Given the description of an element on the screen output the (x, y) to click on. 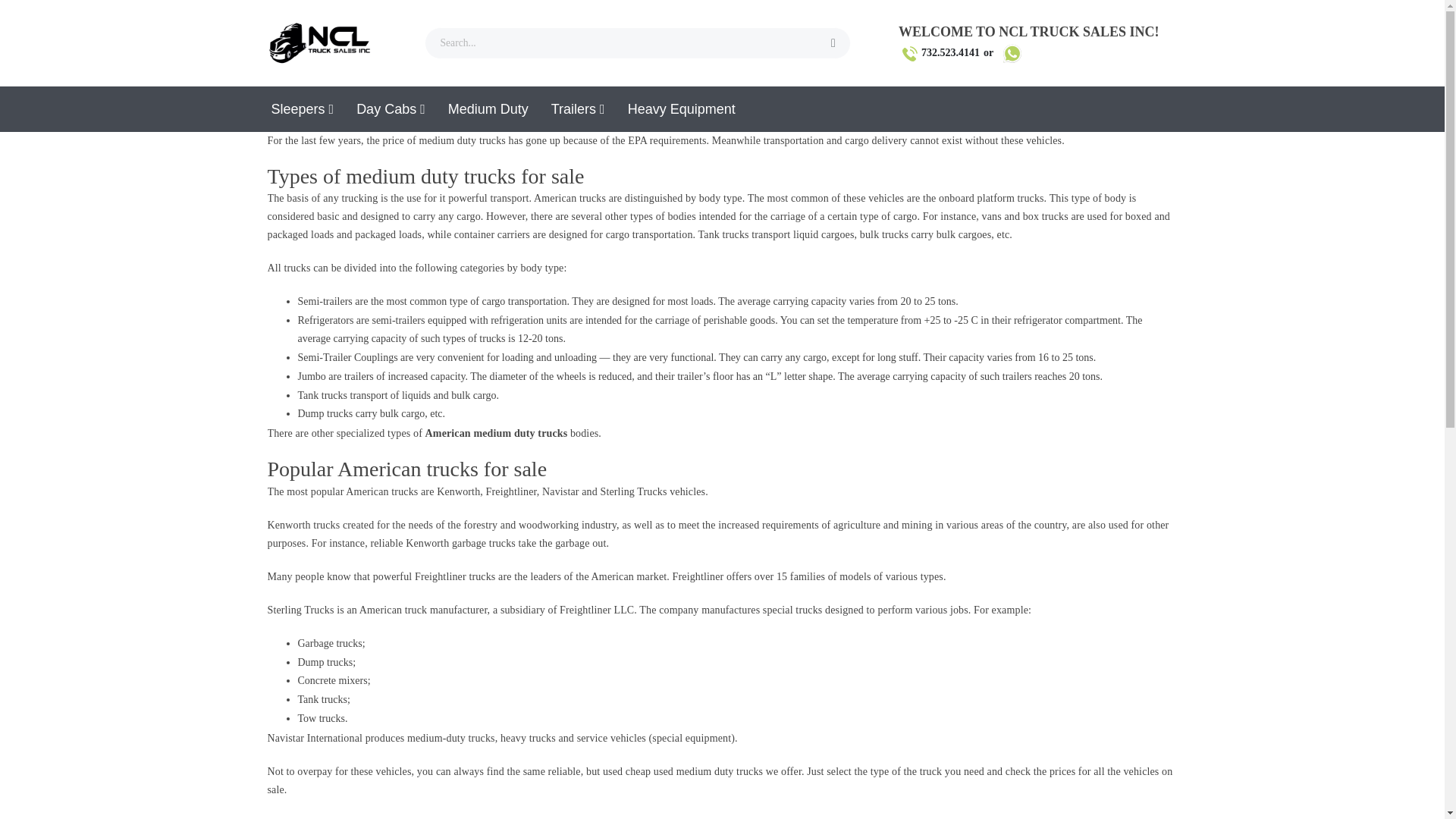
Medium Duty (488, 108)
732.523.4141 (940, 53)
or (1005, 53)
Trailers (577, 108)
Day Cabs (390, 108)
Search (833, 42)
Day Cabs (390, 108)
Sleepers (301, 108)
Sleepers (301, 108)
